Given the description of an element on the screen output the (x, y) to click on. 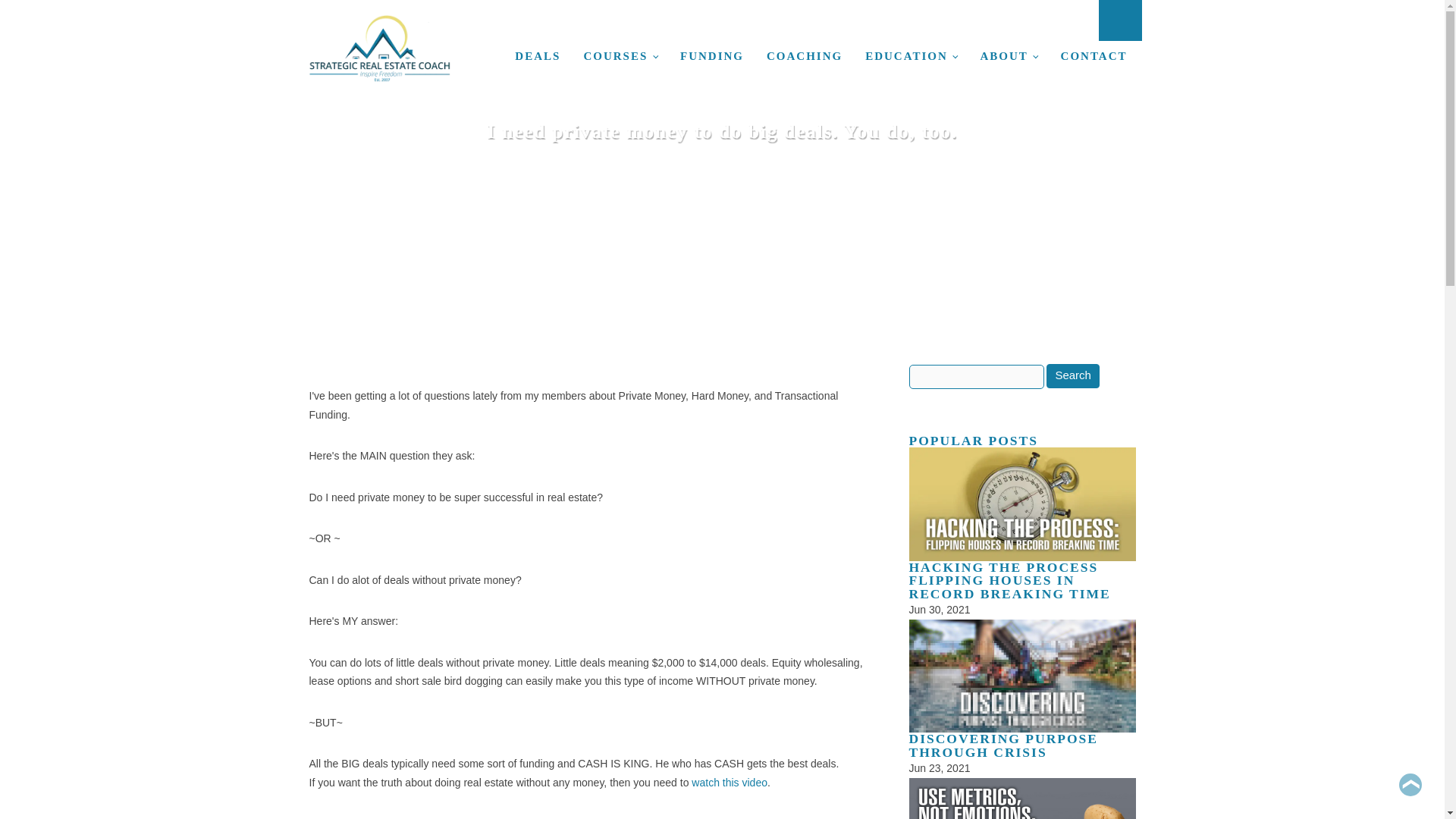
FUNDING (711, 55)
Search (1072, 375)
COURSES (620, 55)
DEALS (537, 55)
CONTACT (1093, 55)
Search (1072, 375)
ABOUT (1009, 55)
watch this video (729, 782)
EDUCATION (910, 55)
COACHING (804, 55)
